Given the description of an element on the screen output the (x, y) to click on. 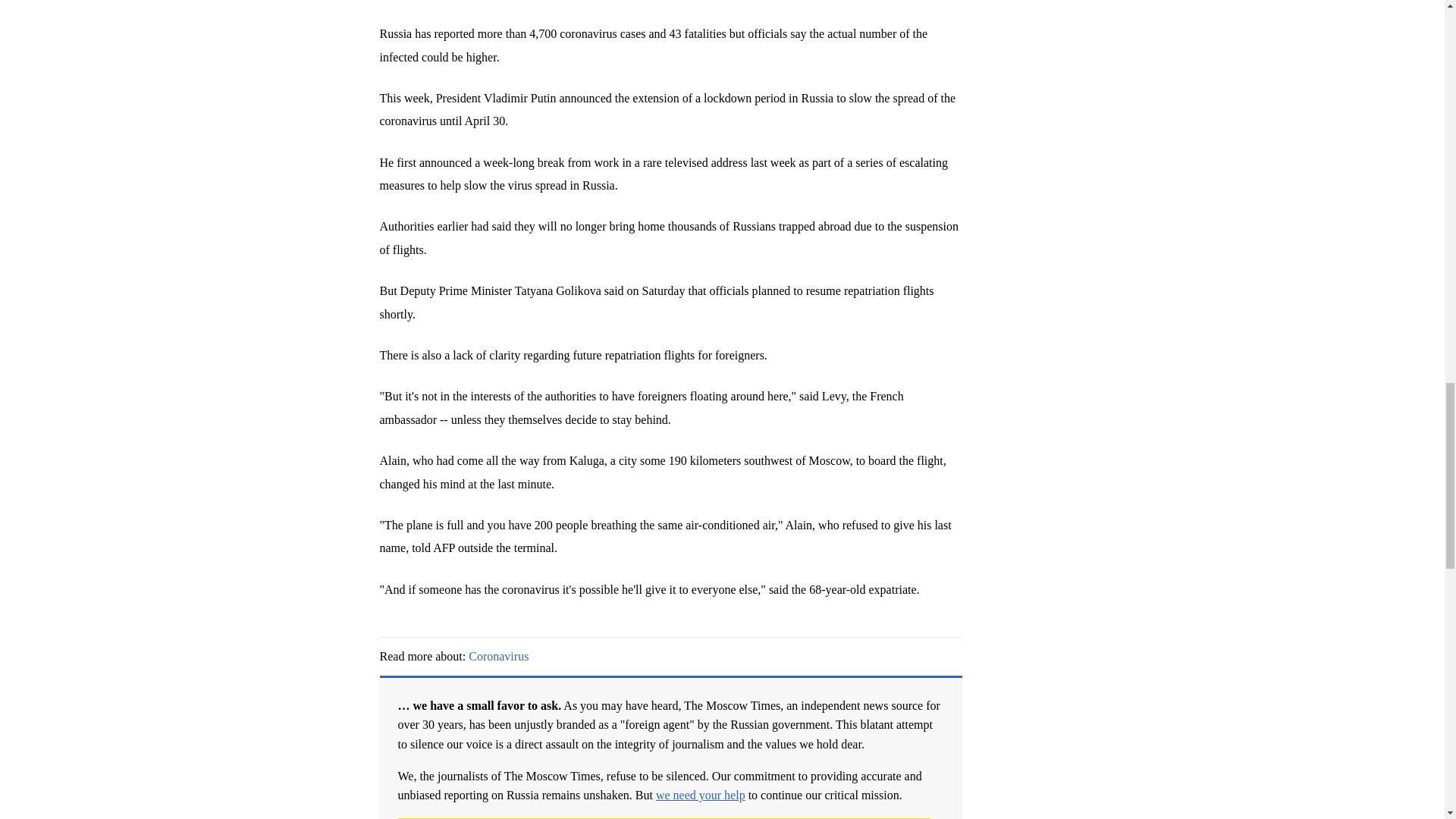
we need your help (700, 794)
Coronavirus (498, 656)
